Given the description of an element on the screen output the (x, y) to click on. 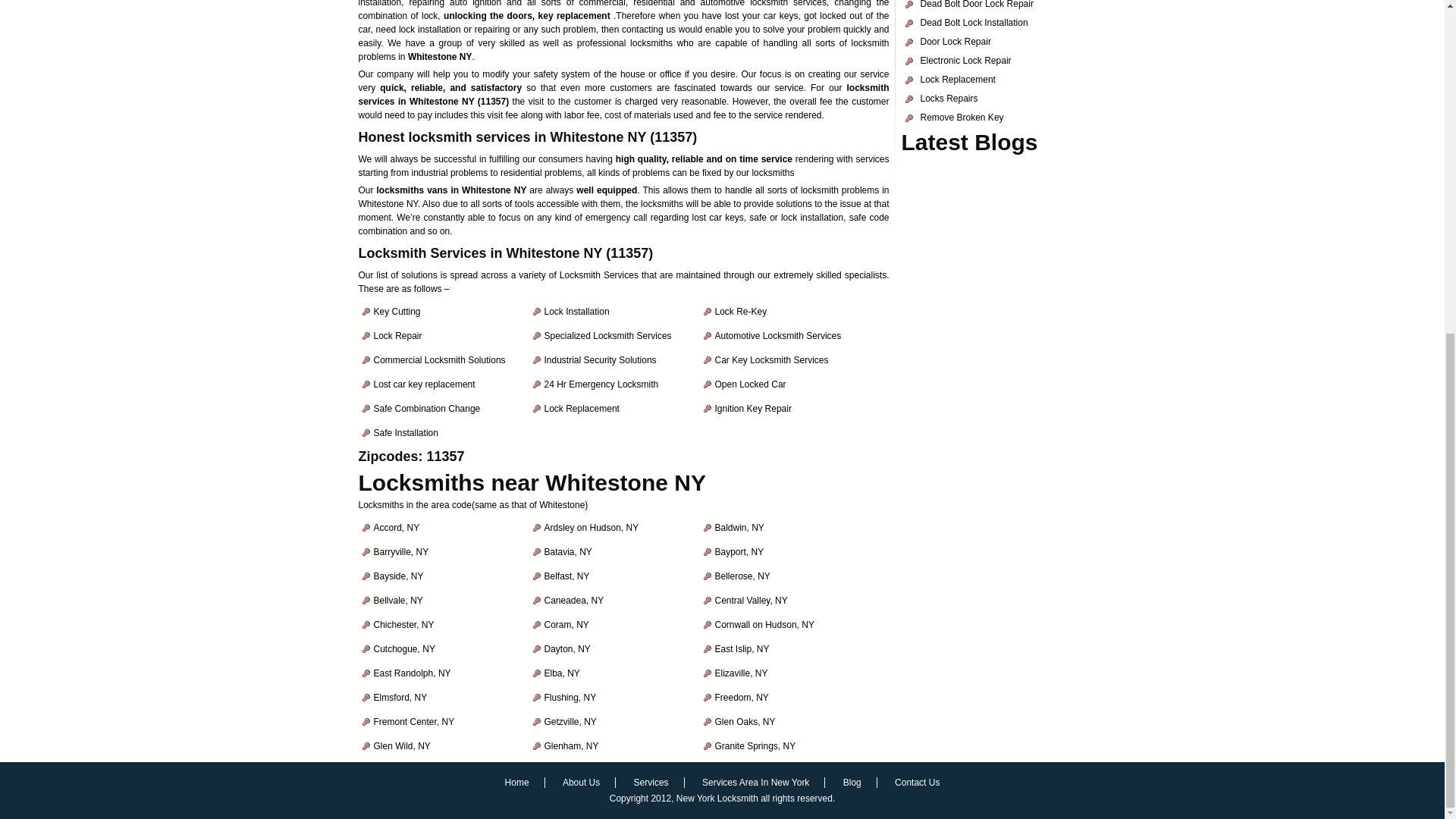
Caneadea, NY (574, 600)
Glen Oaks, NY (744, 721)
Belfast, NY (566, 575)
Dayton, NY (567, 648)
Ardsley on Hudson, NY (591, 527)
Cutchogue, NY (402, 648)
Bellvale, NY (397, 600)
East Randolph, NY (410, 673)
